Given the description of an element on the screen output the (x, y) to click on. 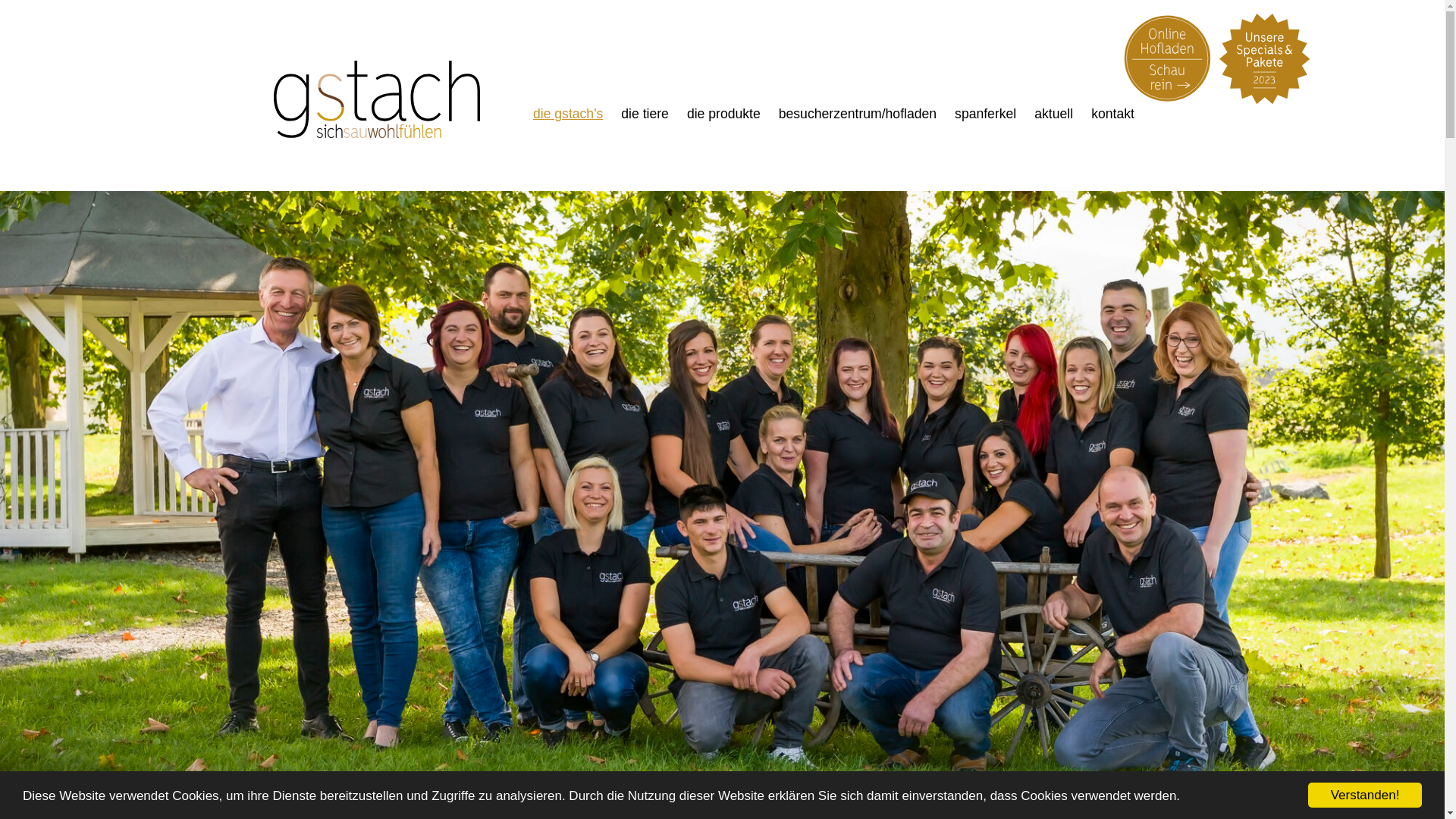
die tiere Element type: text (644, 113)
besucherzentrum/hofladen Element type: text (857, 113)
die gstach's Element type: text (567, 113)
aktuell Element type: text (1053, 113)
Specials & Pakete Element type: hover (1264, 58)
spanferkel Element type: text (985, 113)
Verstanden! Element type: text (1364, 794)
die produkte Element type: text (723, 113)
kontakt Element type: text (1112, 113)
Online-Shop Element type: hover (1169, 58)
